Given the description of an element on the screen output the (x, y) to click on. 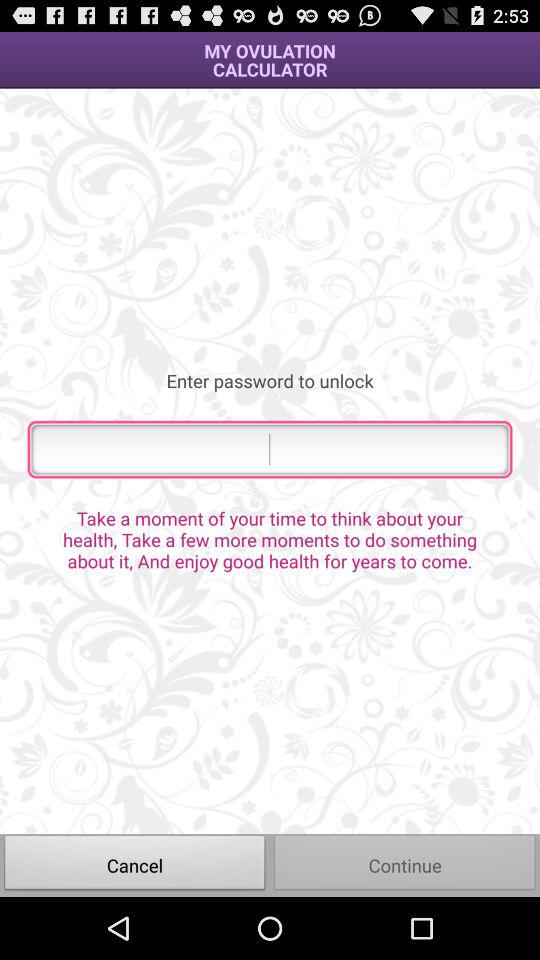
open item below the take a moment item (405, 864)
